Given the description of an element on the screen output the (x, y) to click on. 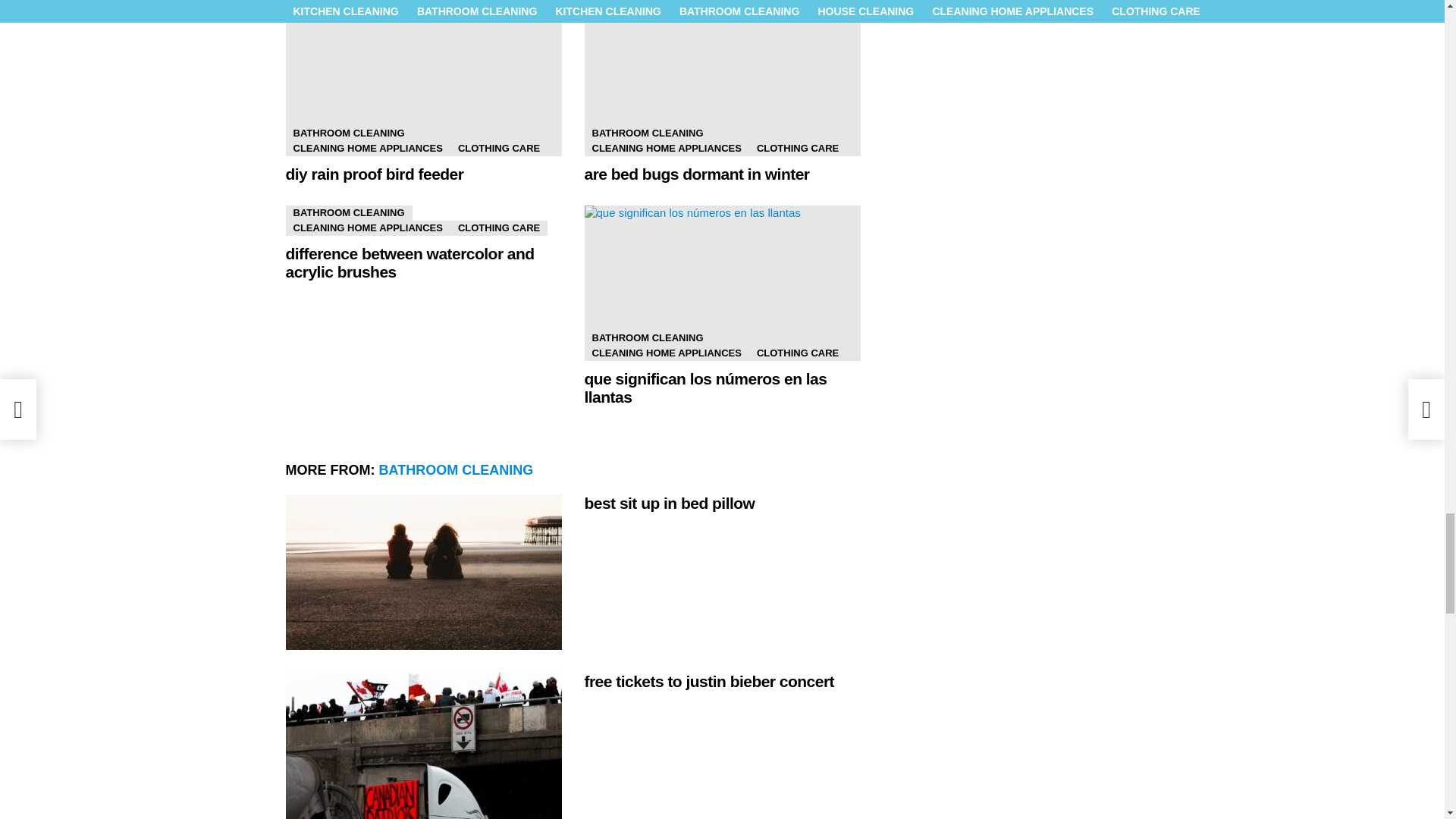
free tickets to justin bieber concert (422, 745)
best sit up in bed pillow (422, 572)
CLEANING HOME APPLIANCES (367, 148)
are bed bugs dormant in winter (721, 78)
BATHROOM CLEANING (348, 133)
diy rain proof bird feeder (422, 78)
CLOTHING CARE (498, 148)
